Given the description of an element on the screen output the (x, y) to click on. 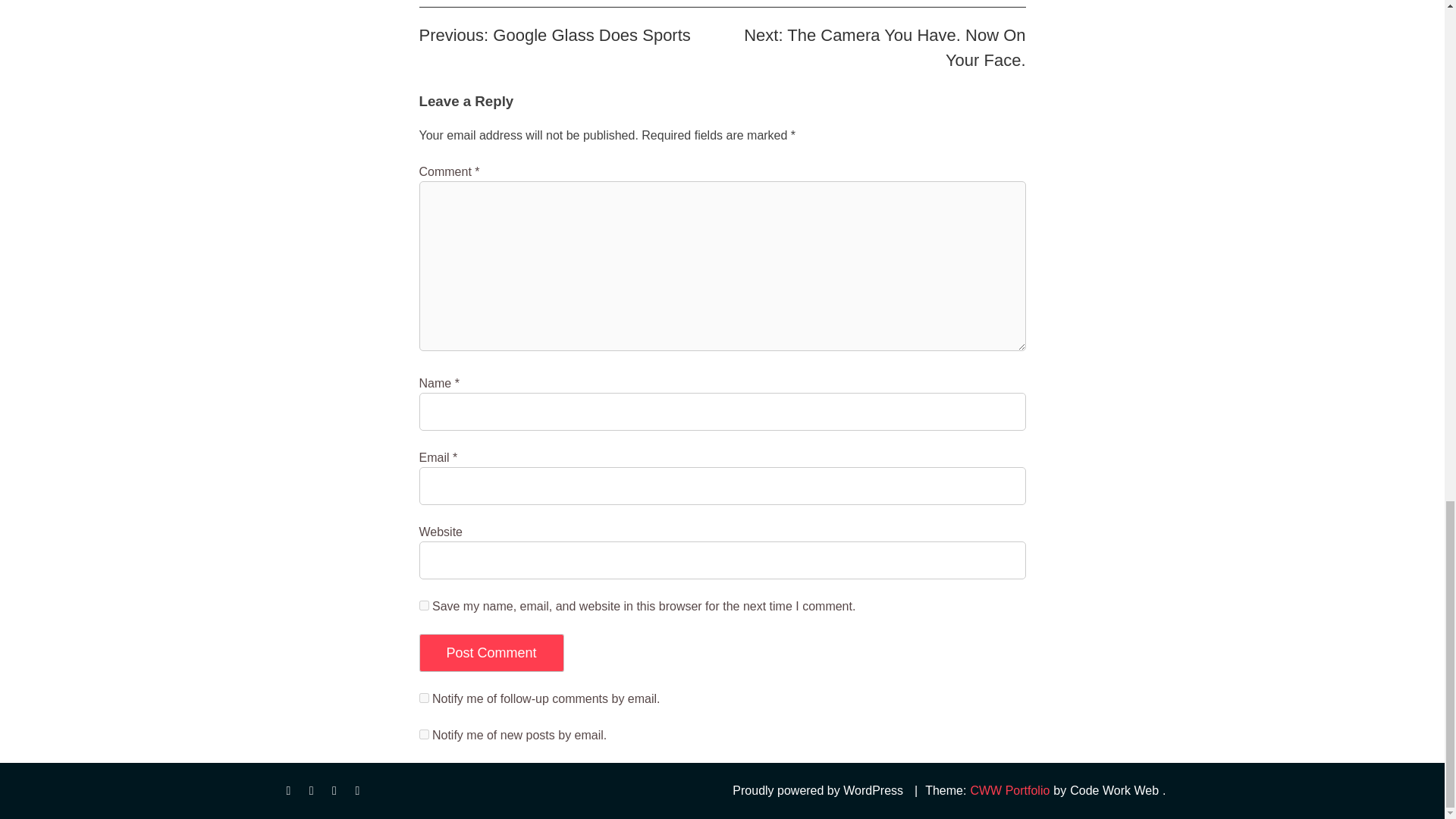
Previous: Google Glass Does Sports (554, 35)
subscribe (423, 734)
yes (423, 605)
Proudly powered by WordPress (818, 791)
Post Comment (491, 652)
subscribe (423, 697)
Code Work Web (1113, 791)
Next: The Camera You Have. Now On Your Face. (884, 47)
Post Comment (491, 652)
CWW Portfolio (1009, 791)
